Given the description of an element on the screen output the (x, y) to click on. 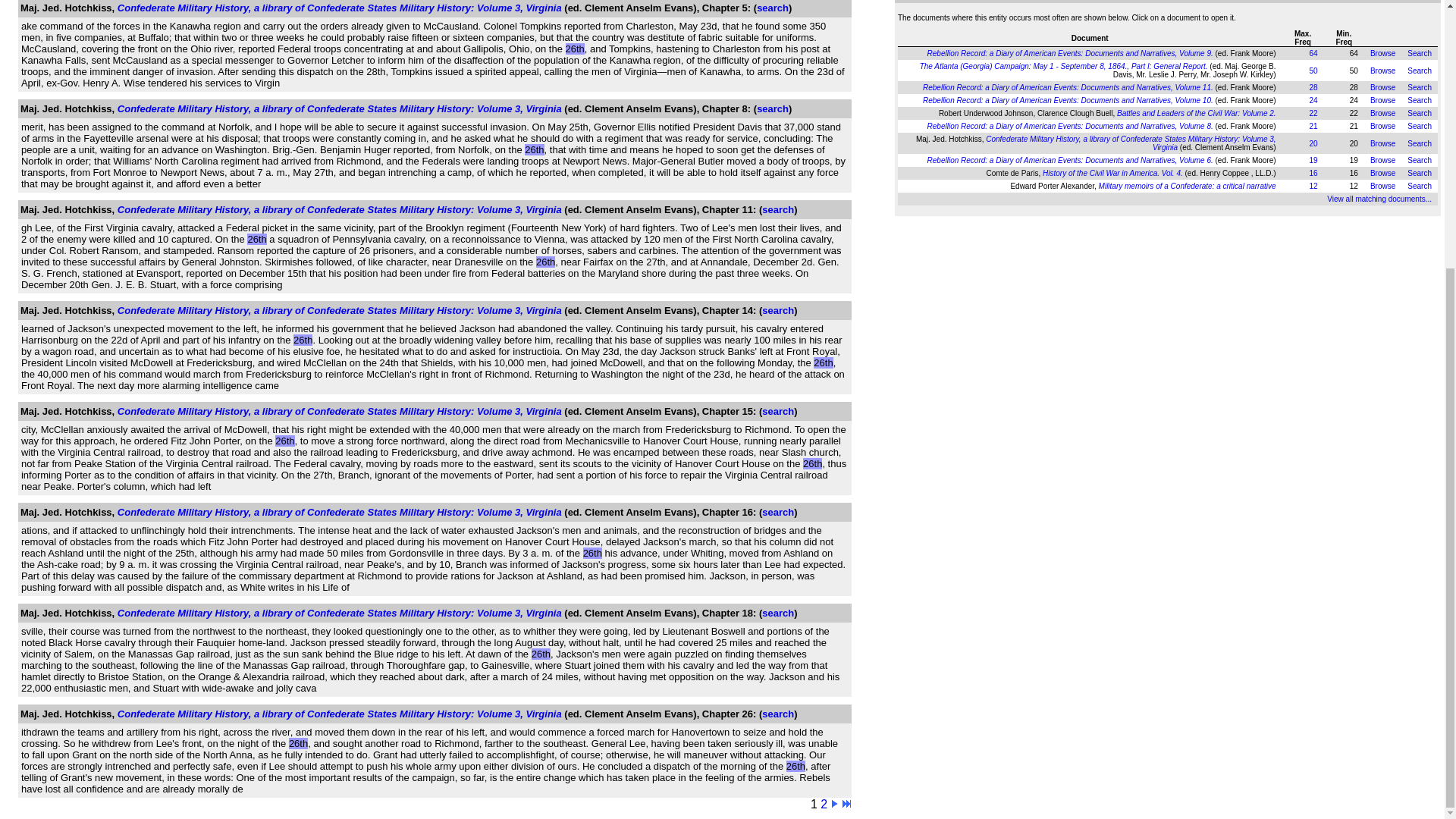
Browse (1382, 126)
Search (1419, 112)
Browse (1382, 112)
Browse (1382, 100)
50 (1312, 70)
Search (1419, 87)
Search (1419, 70)
64 (1312, 53)
